Given the description of an element on the screen output the (x, y) to click on. 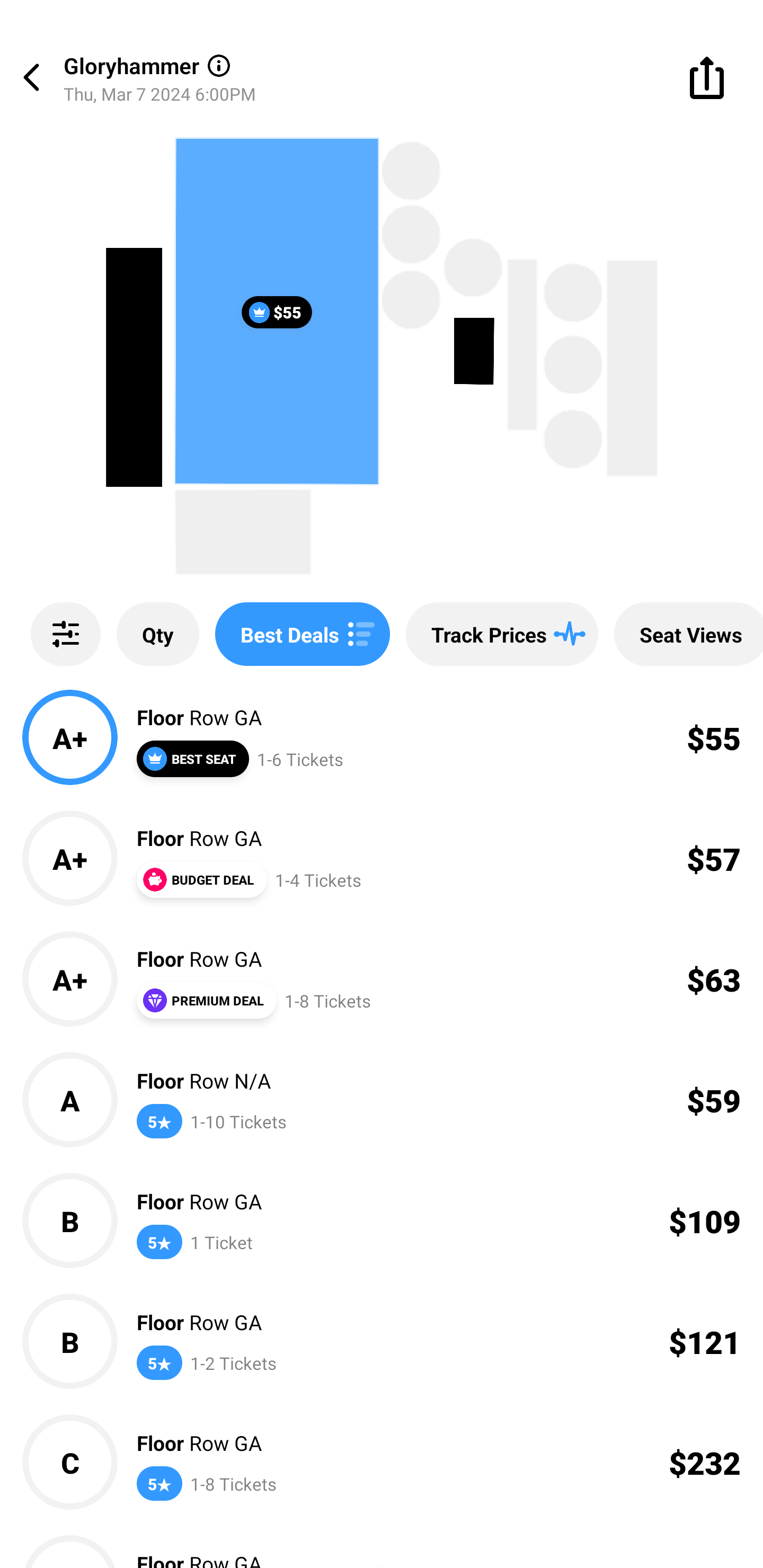
$55 (276, 311)
Qty (157, 634)
Best Deals (302, 634)
Track Prices (501, 634)
Seat Views (688, 634)
BEST SEAT (192, 758)
BUDGET DEAL (201, 879)
PREMIUM DEAL (206, 1000)
